Given the description of an element on the screen output the (x, y) to click on. 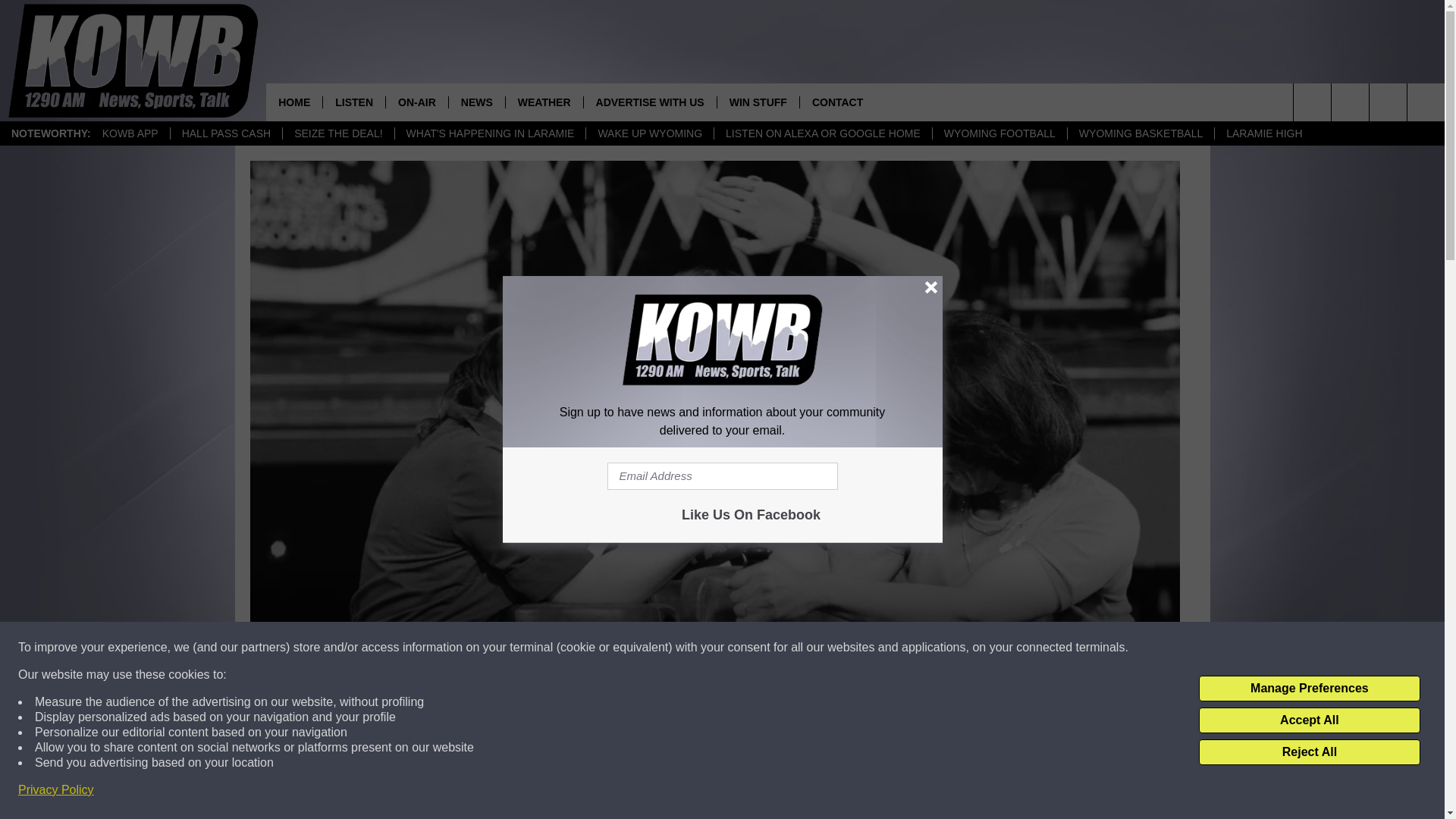
WHAT'S HAPPENING IN LARAMIE (490, 133)
Manage Preferences (1309, 688)
HOME (293, 102)
Share on Twitter (912, 791)
ON-AIR (416, 102)
Reject All (1309, 751)
NEWS (476, 102)
LISTEN ON ALEXA OR GOOGLE HOME (822, 133)
Email Address (722, 475)
Privacy Policy (55, 789)
WYOMING BASKETBALL (1140, 133)
Accept All (1309, 720)
Share on Facebook (517, 791)
KOWB APP (130, 133)
WAKE UP WYOMING (649, 133)
